Given the description of an element on the screen output the (x, y) to click on. 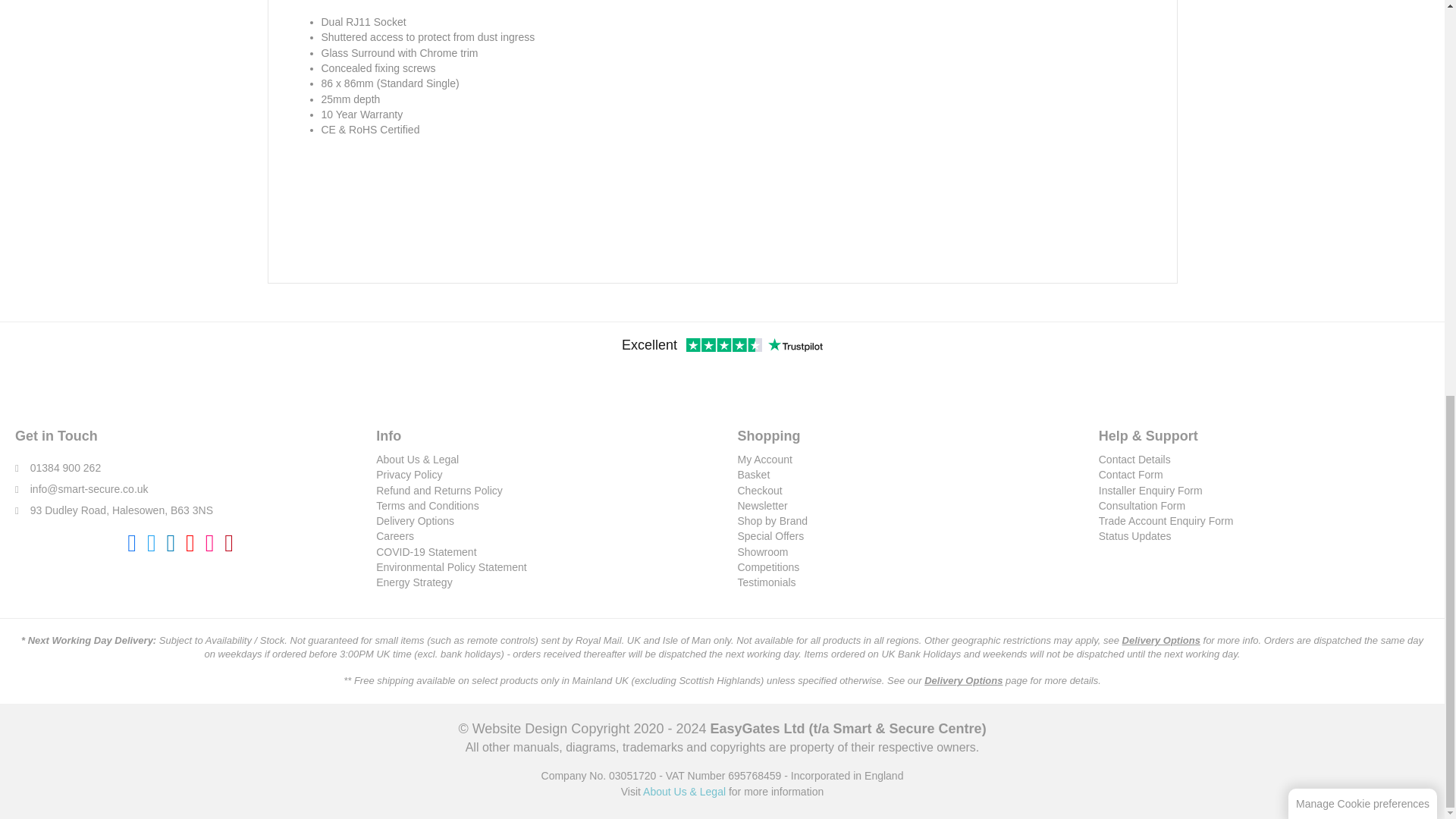
Customer reviews powered by Trustpilot (721, 346)
Manage Cookie preferences (1362, 40)
